Given the description of an element on the screen output the (x, y) to click on. 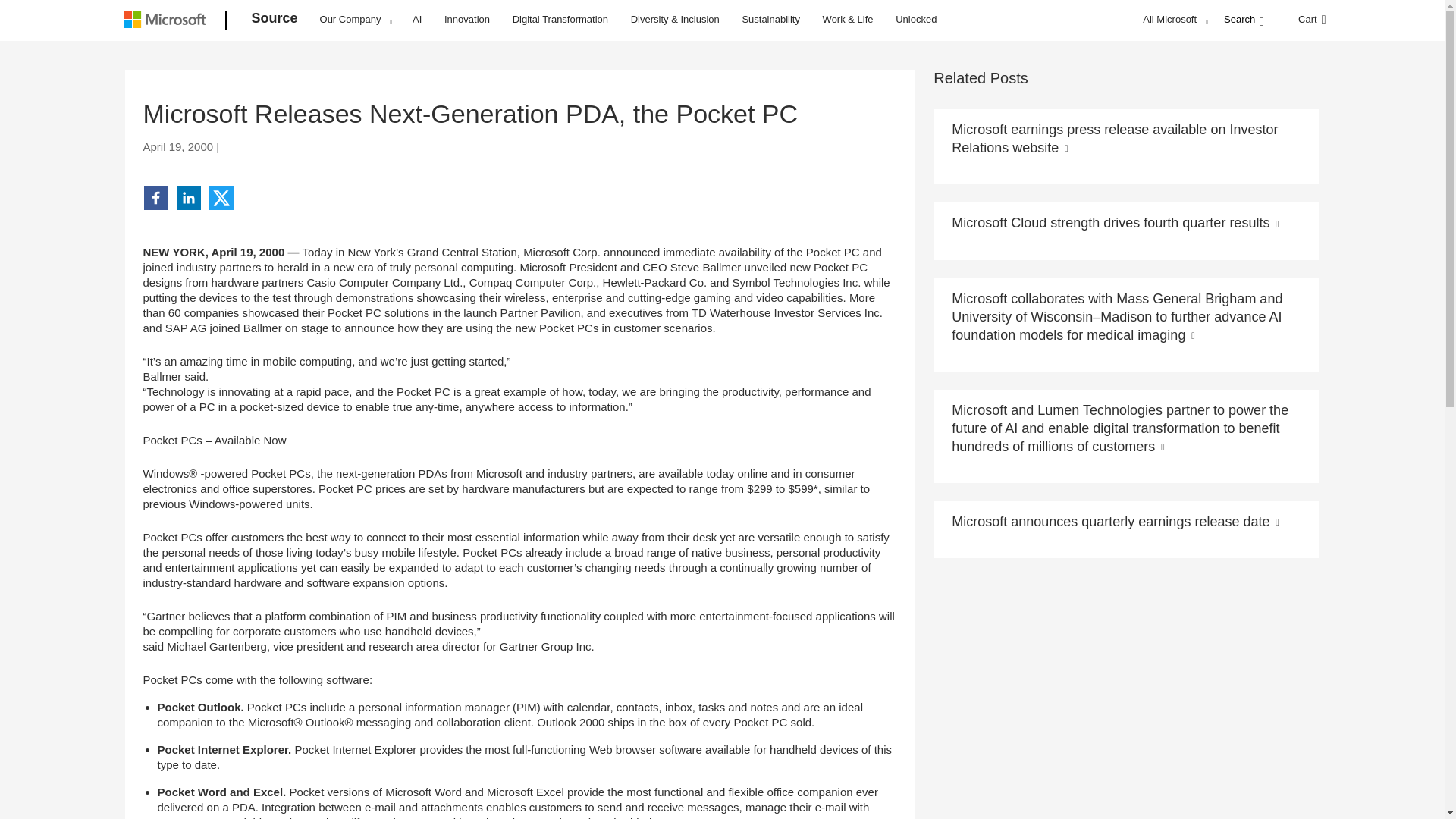
Digital Transformation (559, 18)
Sustainability (770, 18)
Microsoft (167, 20)
All Microsoft (1173, 18)
Our Company (355, 18)
Innovation (467, 18)
Unlocked (915, 18)
Source (274, 20)
